Given the description of an element on the screen output the (x, y) to click on. 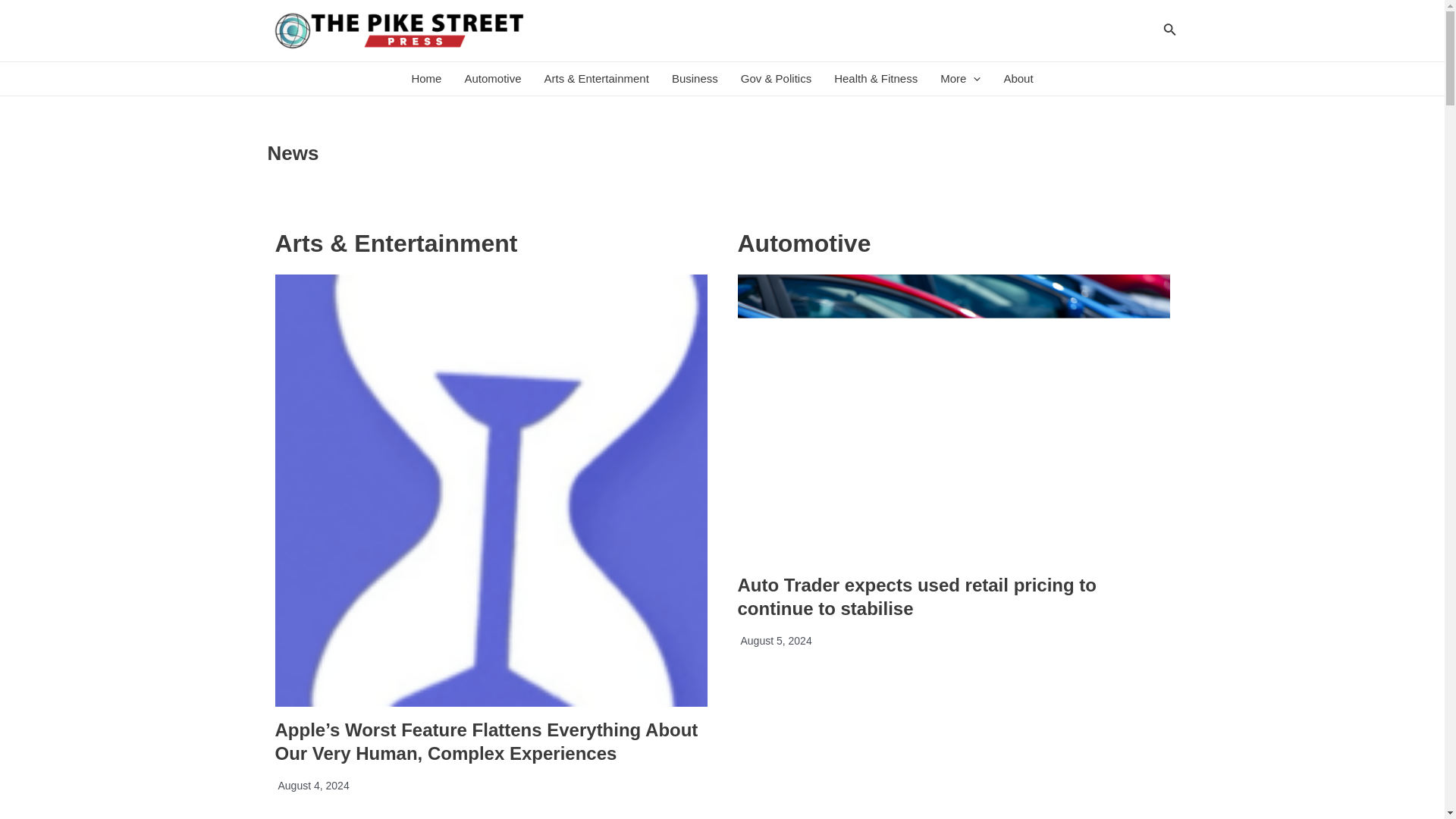
Home (425, 78)
About (1017, 78)
More (959, 78)
Automotive (492, 78)
Business (695, 78)
